Given the description of an element on the screen output the (x, y) to click on. 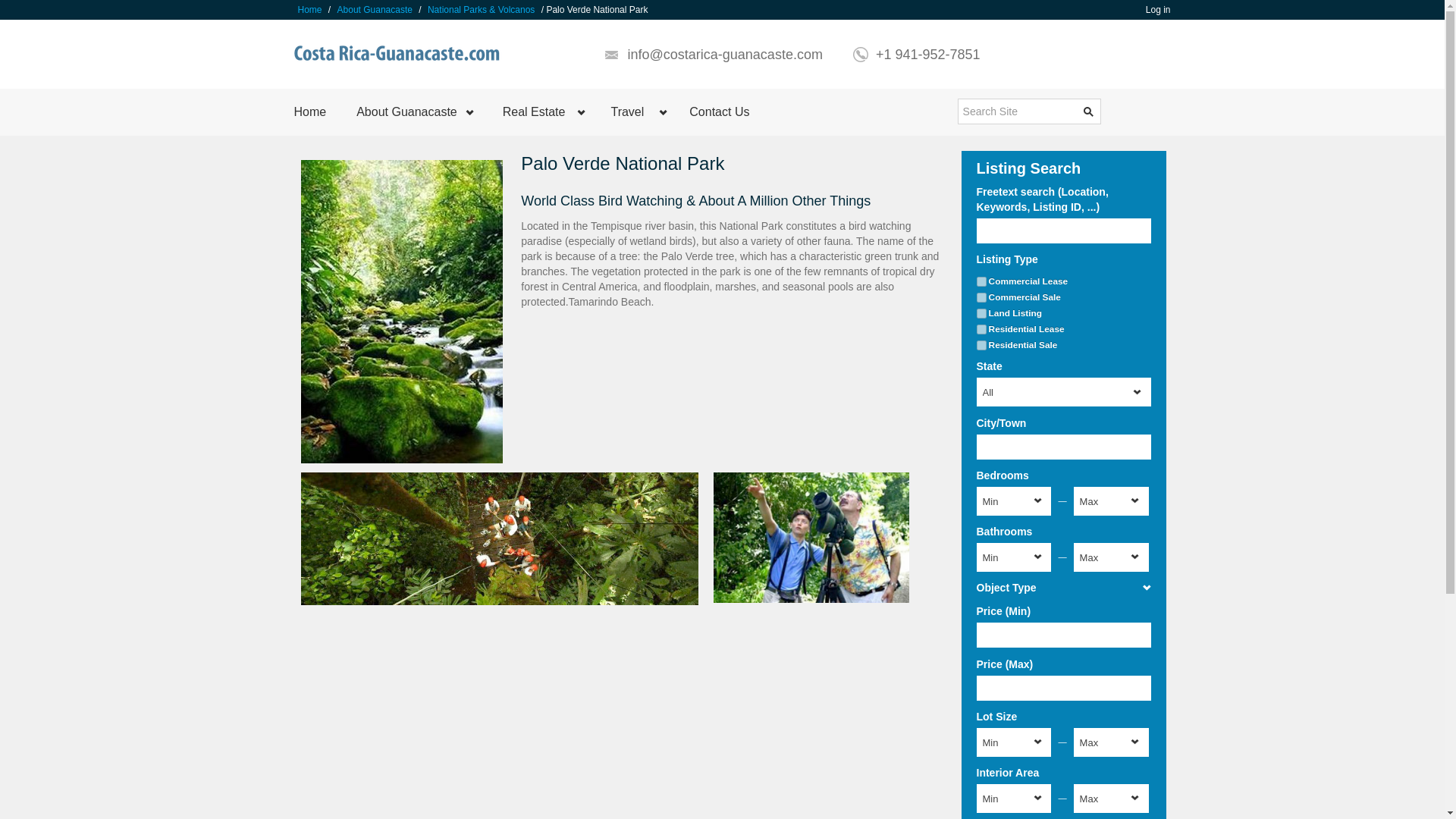
cs (981, 297)
costarica-guanacaste.com (400, 54)
rs (981, 345)
Home (310, 111)
Home (310, 9)
About Guanacaste (374, 9)
ll (981, 313)
About Guanacaste (413, 111)
Search (1088, 111)
cl (981, 281)
